Given the description of an element on the screen output the (x, y) to click on. 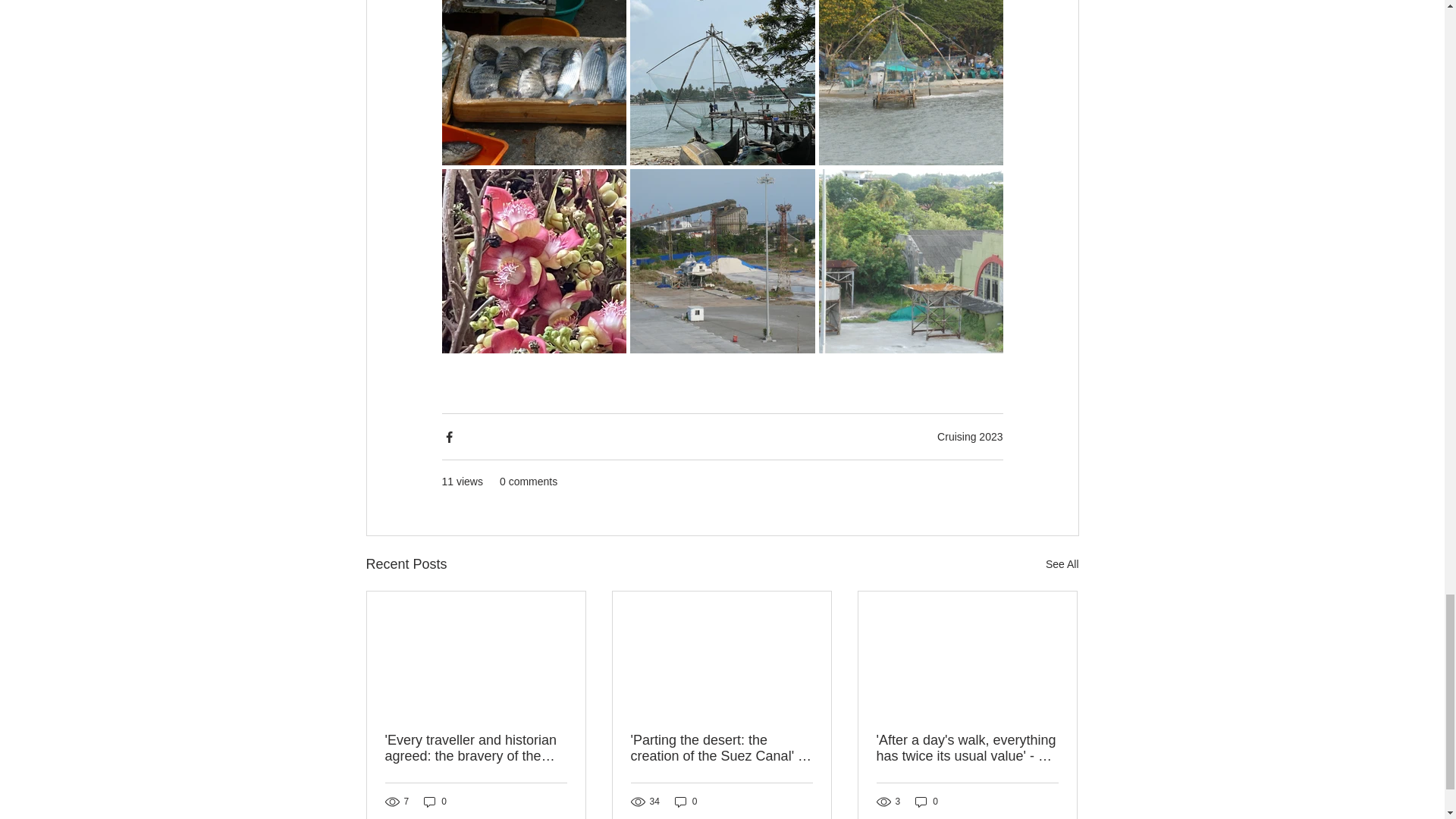
0 (685, 801)
Cruising 2023 (970, 436)
See All (1061, 564)
0 (435, 801)
0 (926, 801)
